Given the description of an element on the screen output the (x, y) to click on. 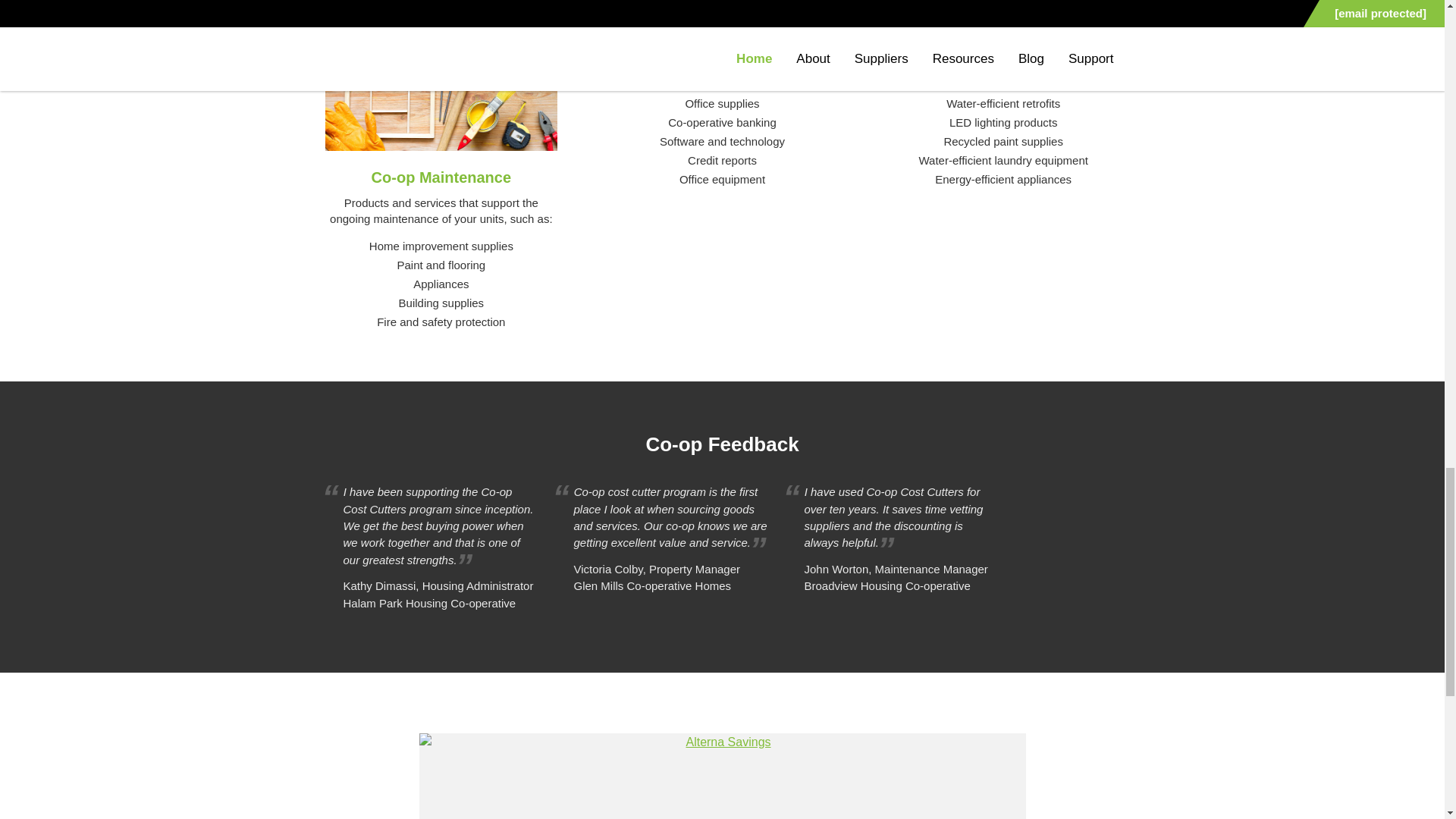
Energy Efficiency (1003, 34)
Co-op Maintenance (441, 176)
Co-op Administration (722, 34)
